Given the description of an element on the screen output the (x, y) to click on. 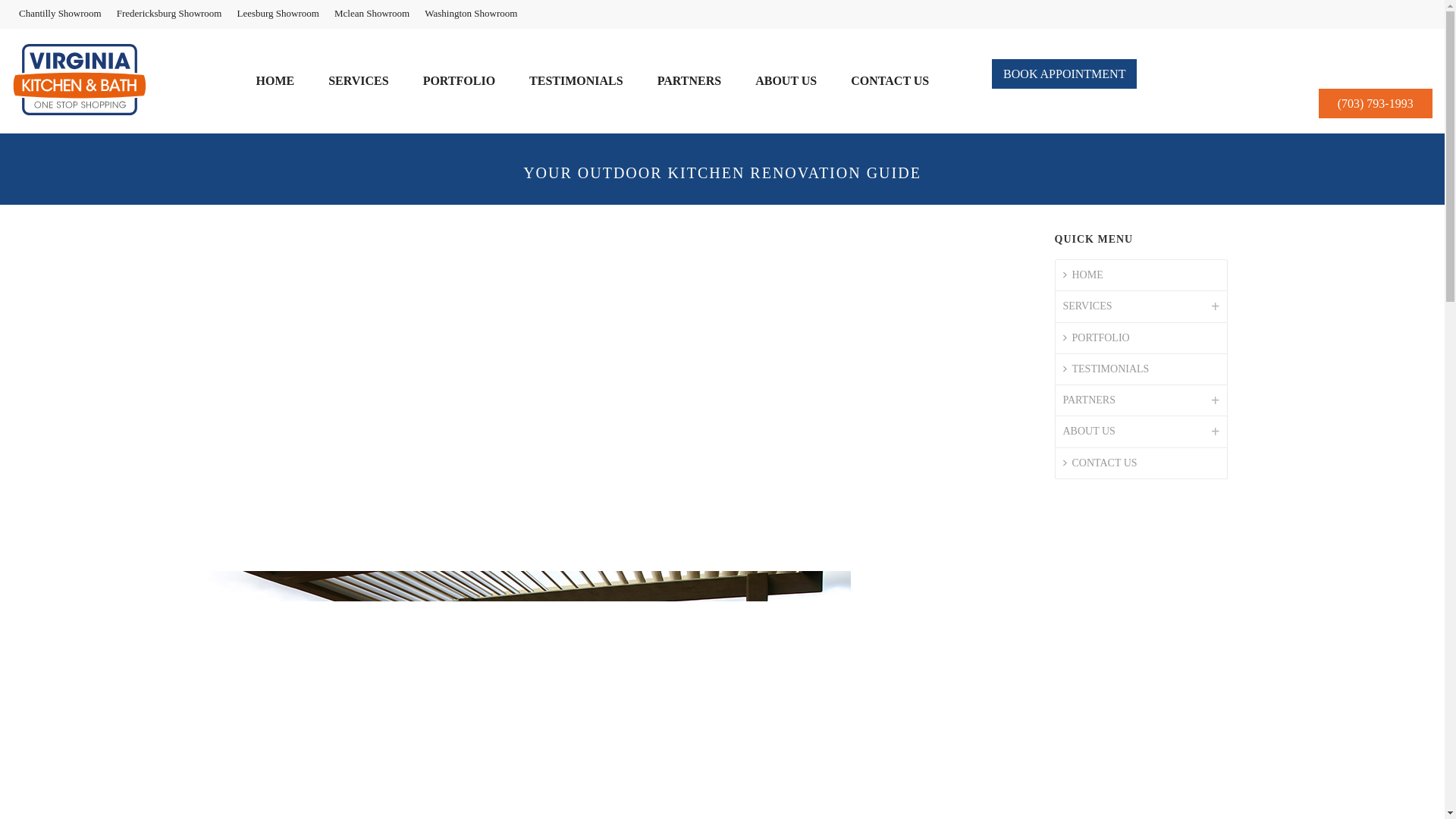
PARTNERS (689, 81)
Fredericksburg Showroom (169, 14)
TESTIMONIALS (576, 81)
HOME (275, 81)
PORTFOLIO (459, 81)
Mclean Showroom (371, 14)
Washington Showroom (470, 14)
ABOUT US (785, 81)
TESTIMONIALS (576, 81)
